Given the description of an element on the screen output the (x, y) to click on. 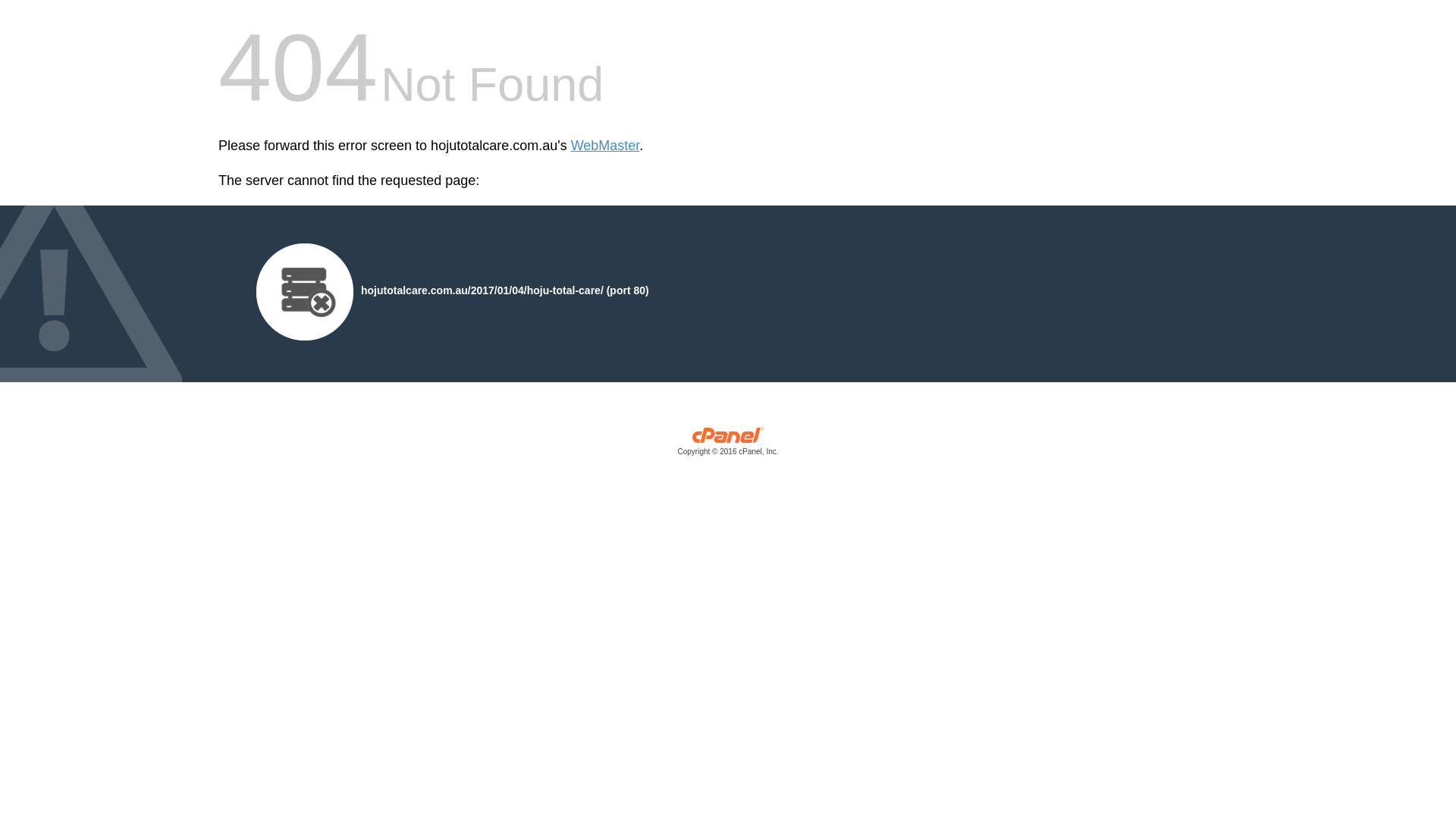
WebMaster Element type: text (605, 145)
